Given the description of an element on the screen output the (x, y) to click on. 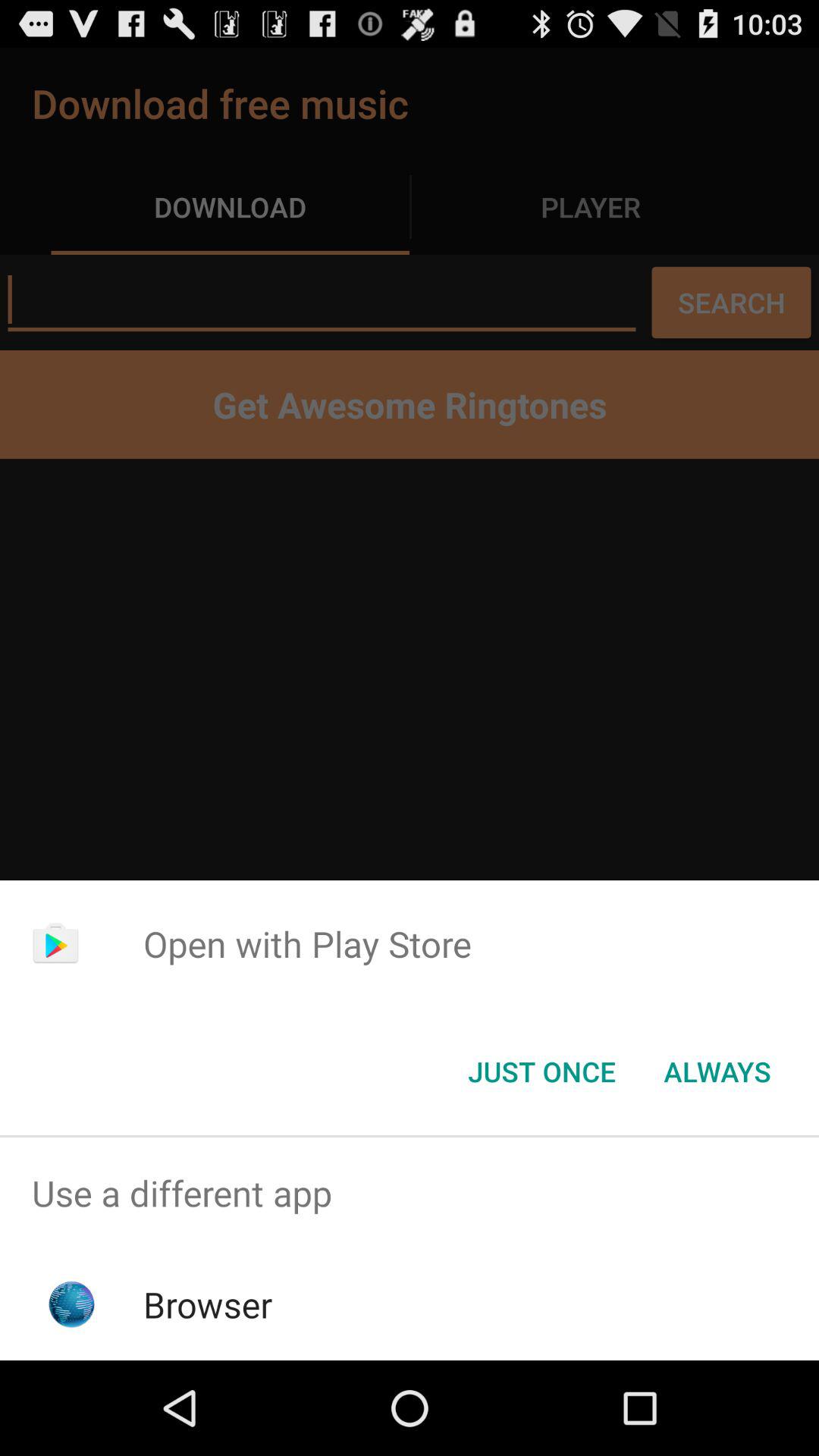
select the icon next to always button (541, 1071)
